Given the description of an element on the screen output the (x, y) to click on. 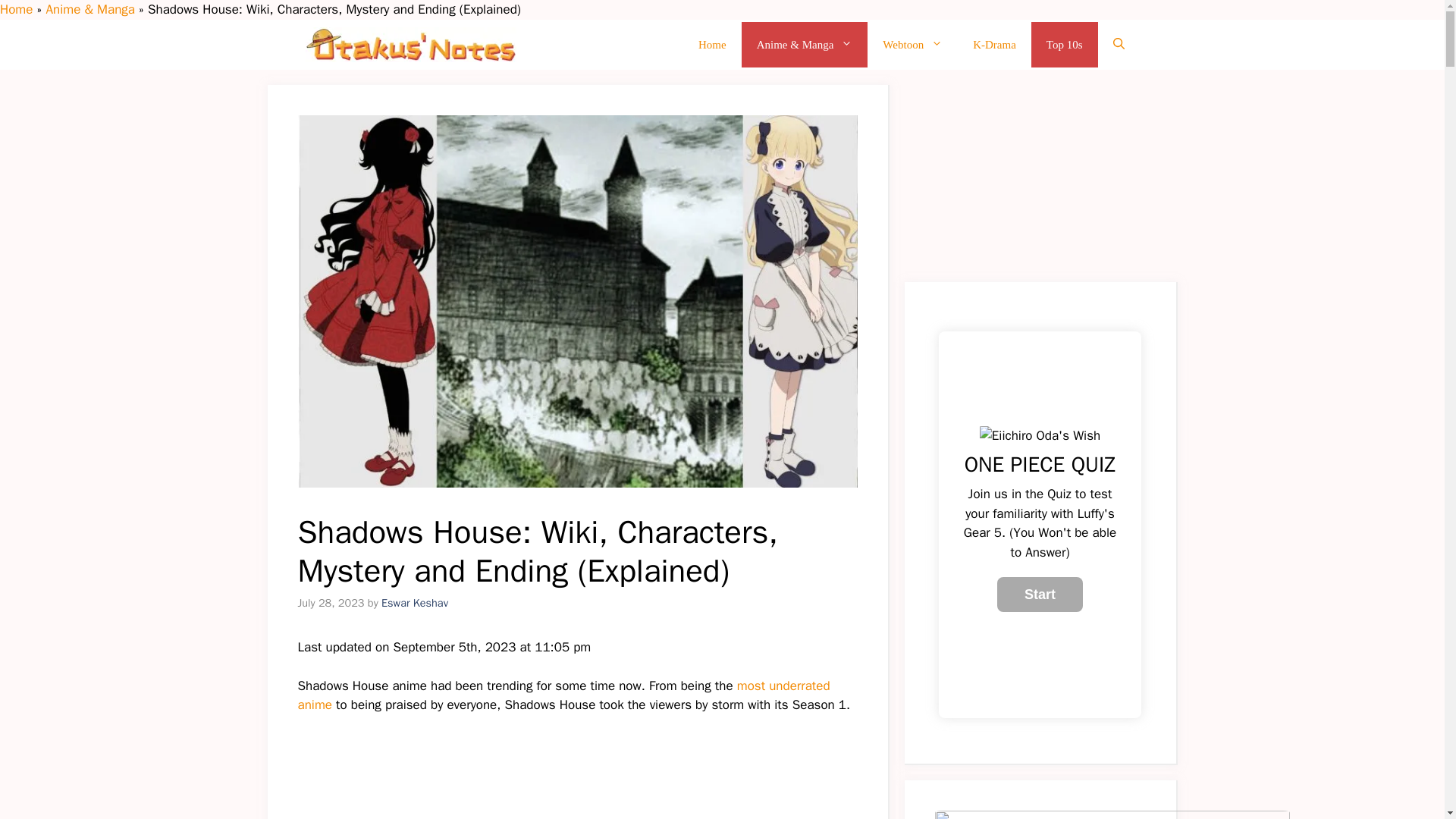
Home (711, 43)
Start (1040, 594)
most underrated anime (563, 695)
Eswar Keshav (414, 602)
Webtoon (912, 43)
View all posts by Eswar Keshav (414, 602)
Home (16, 9)
K-Drama (994, 43)
OtakusNotes (409, 44)
Top 10s (1063, 43)
